Given the description of an element on the screen output the (x, y) to click on. 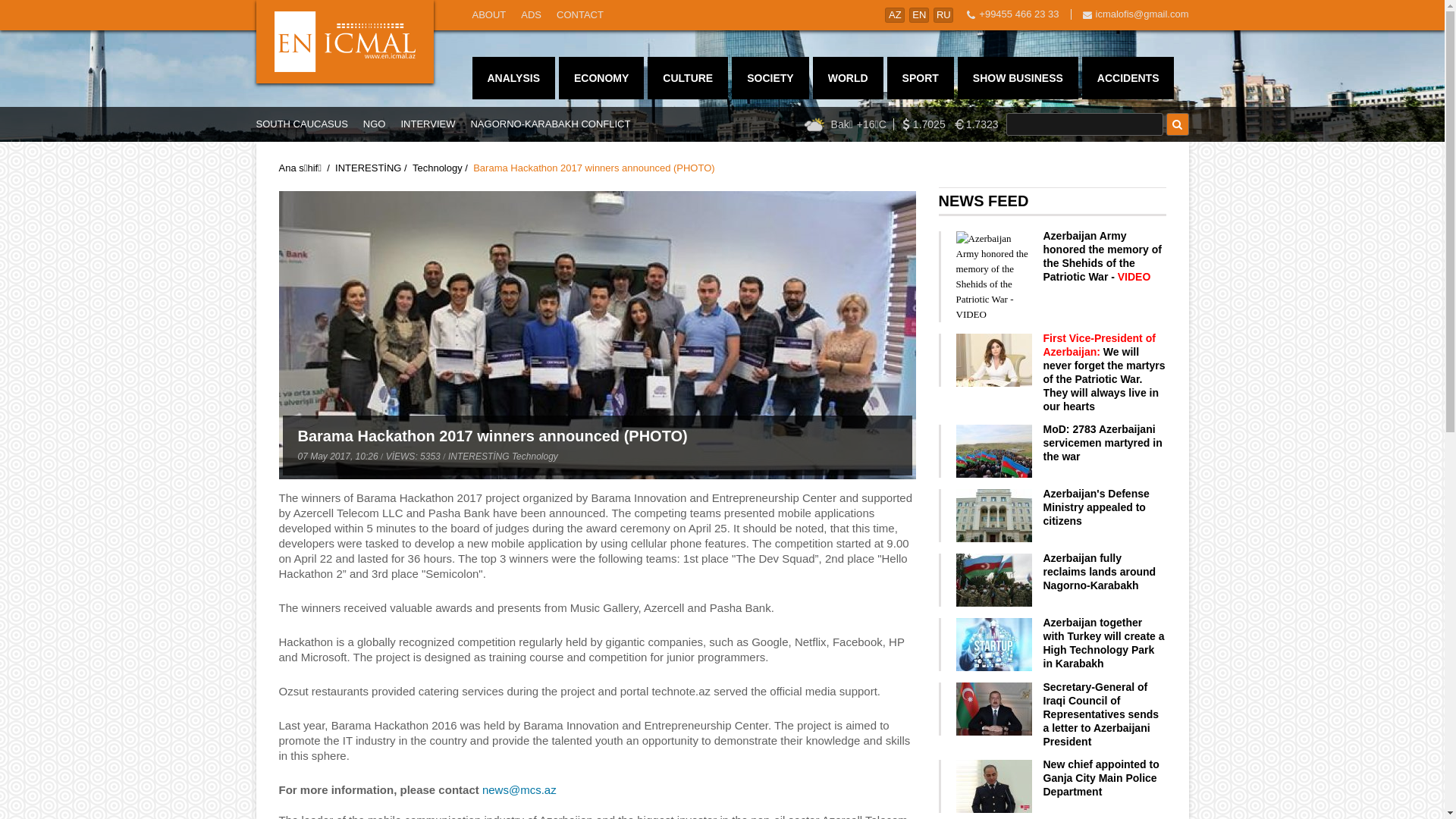
+99455 466 23 33 Element type: text (1018, 13)
SHOW BUSINESS Element type: text (1017, 77)
icmalofis@gmail.com Element type: text (1141, 13)
CULTURE Element type: text (687, 77)
ACCIDENTS Element type: text (1128, 77)
ABOUT Element type: text (488, 14)
SPORT Element type: text (920, 77)
CONTACT Element type: text (579, 14)
ECONOMY Element type: text (600, 77)
RU Element type: text (943, 14)
Azerbaijan fully reclaims lands around Nagorno-Karabakh Element type: text (1099, 571)
Azerbaijan's Defense Ministry appealed to citizens Element type: text (1096, 507)
NGO Element type: text (374, 123)
news@mcs.az Element type: text (519, 789)
NAGORNO-KARABAKH CONFLICT Element type: text (550, 123)
SOCIETY Element type: text (769, 77)
ANALYSIS Element type: text (513, 77)
ADS Element type: text (530, 14)
EN Element type: text (918, 14)
MoD: 2783 Azerbaijani servicemen martyred in the war Element type: text (1102, 442)
WORLD Element type: text (847, 77)
AZ Element type: text (894, 14)
Technology Element type: text (534, 456)
Technology Element type: text (437, 167)
SOUTH CAUCASUS Element type: text (302, 123)
INTERVIEW Element type: text (427, 123)
New chief appointed to Ganja City Main Police Department Element type: text (1101, 777)
